Given the description of an element on the screen output the (x, y) to click on. 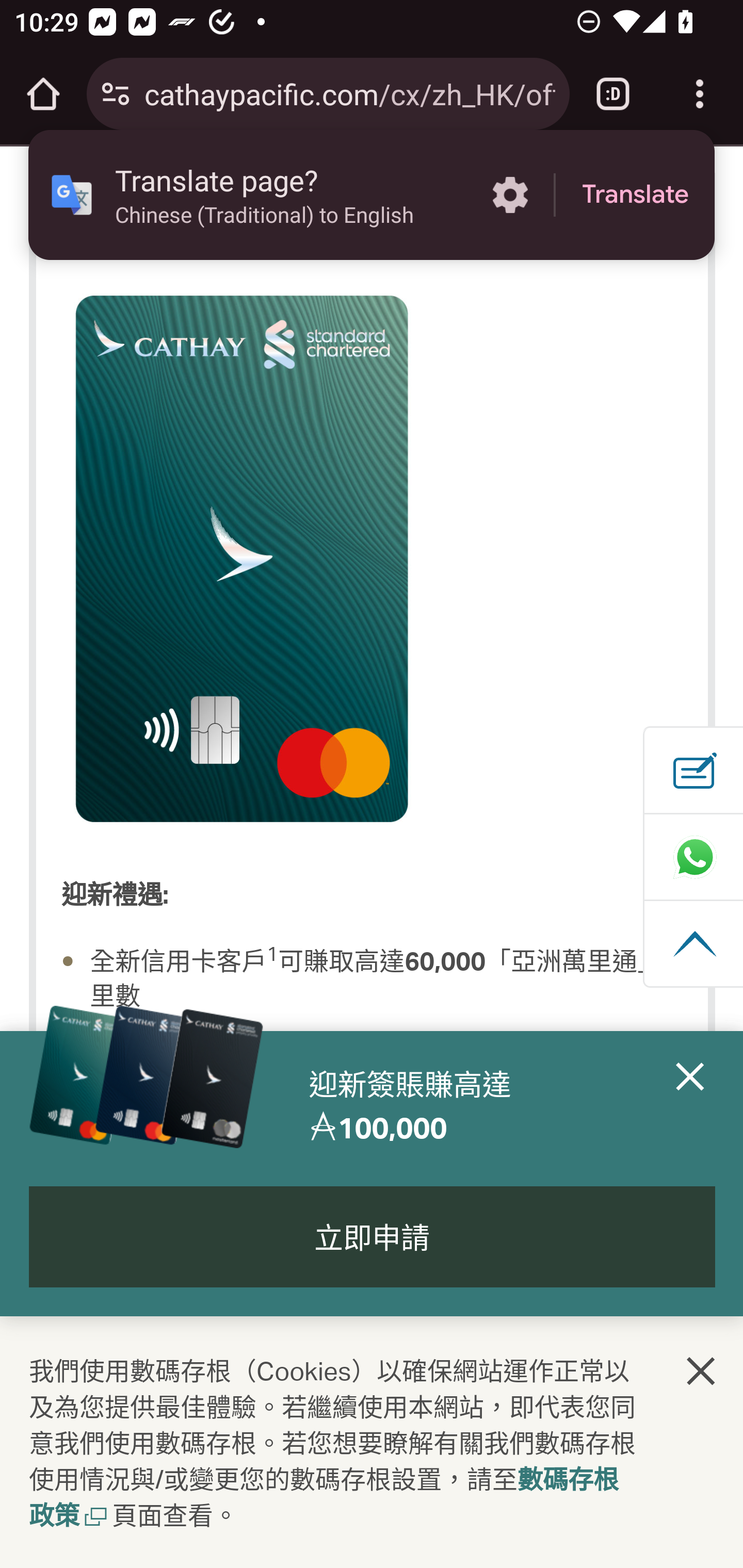
Open the home page (43, 93)
Connection is secure (115, 93)
Switch or close tabs (612, 93)
Customize and control Google Chrome (699, 93)
Translate (634, 195)
More options in the Translate page? (509, 195)
Close (690, 1105)
關閉 (701, 1370)
數碼存根政策, 在新窗口中打开 數碼存根政策 開啟新視窗 (323, 1498)
